Given the description of an element on the screen output the (x, y) to click on. 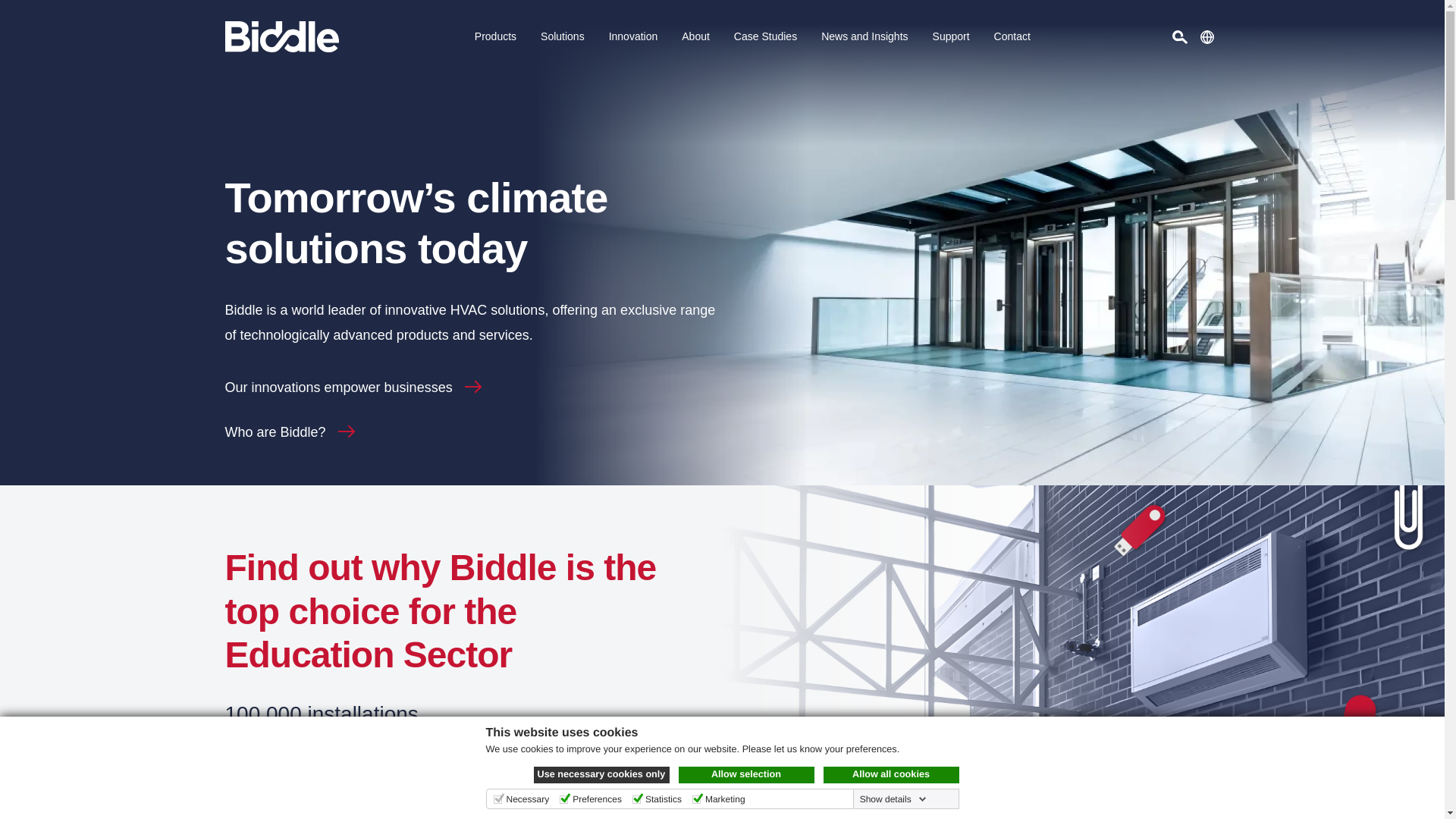
Biddle logo (280, 36)
Allow selection (745, 774)
Globe icon (1205, 37)
Use necessary cookies only (601, 774)
Allow all cookies (891, 774)
Search icon (1180, 37)
